Given the description of an element on the screen output the (x, y) to click on. 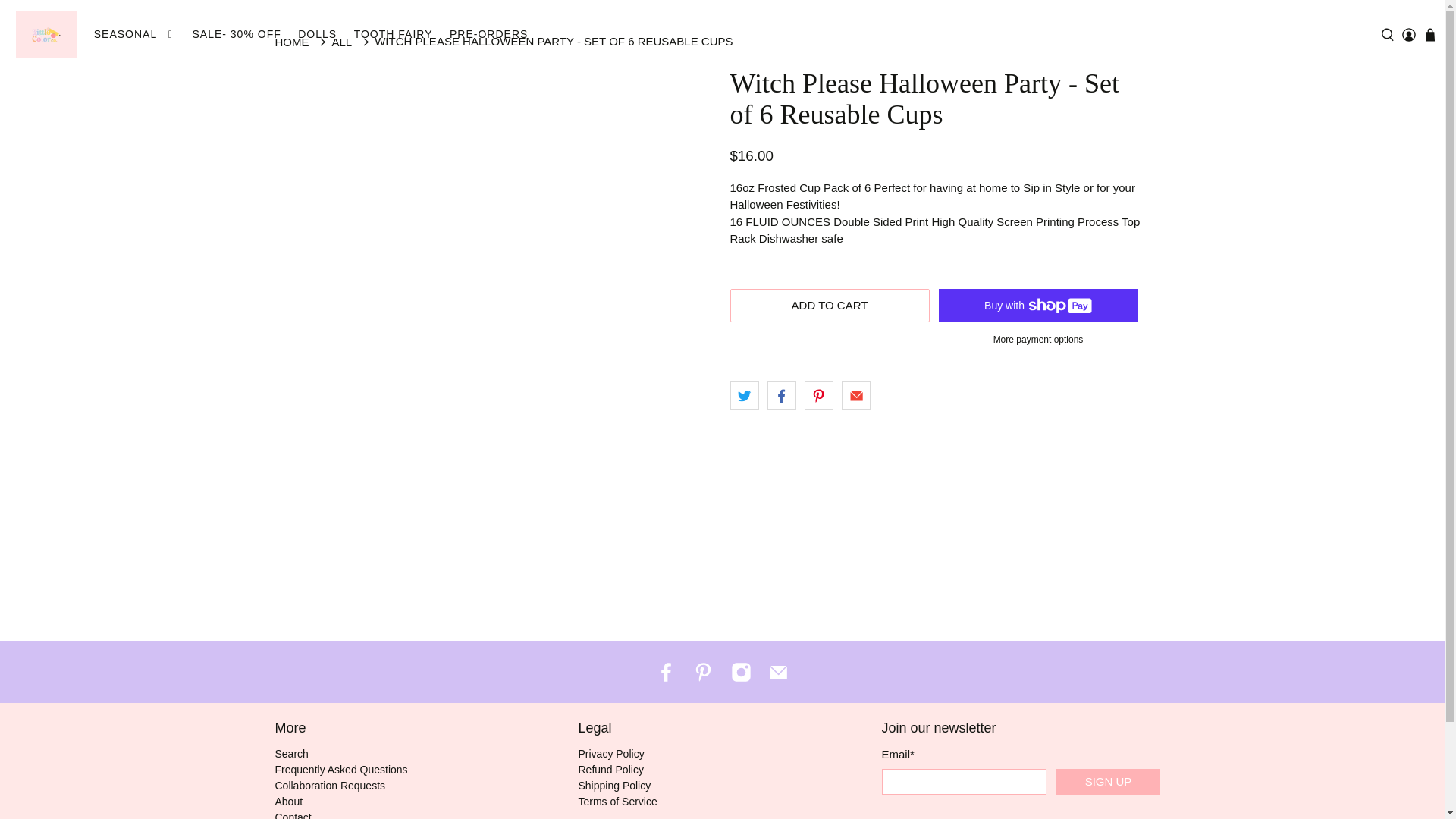
Email this to a friend (855, 395)
Share this on Twitter (743, 395)
Share this on Pinterest (818, 395)
Share this on Facebook (781, 395)
Little Color Company  (46, 34)
Little Color Company  (291, 41)
SEASONAL (133, 34)
